Given the description of an element on the screen output the (x, y) to click on. 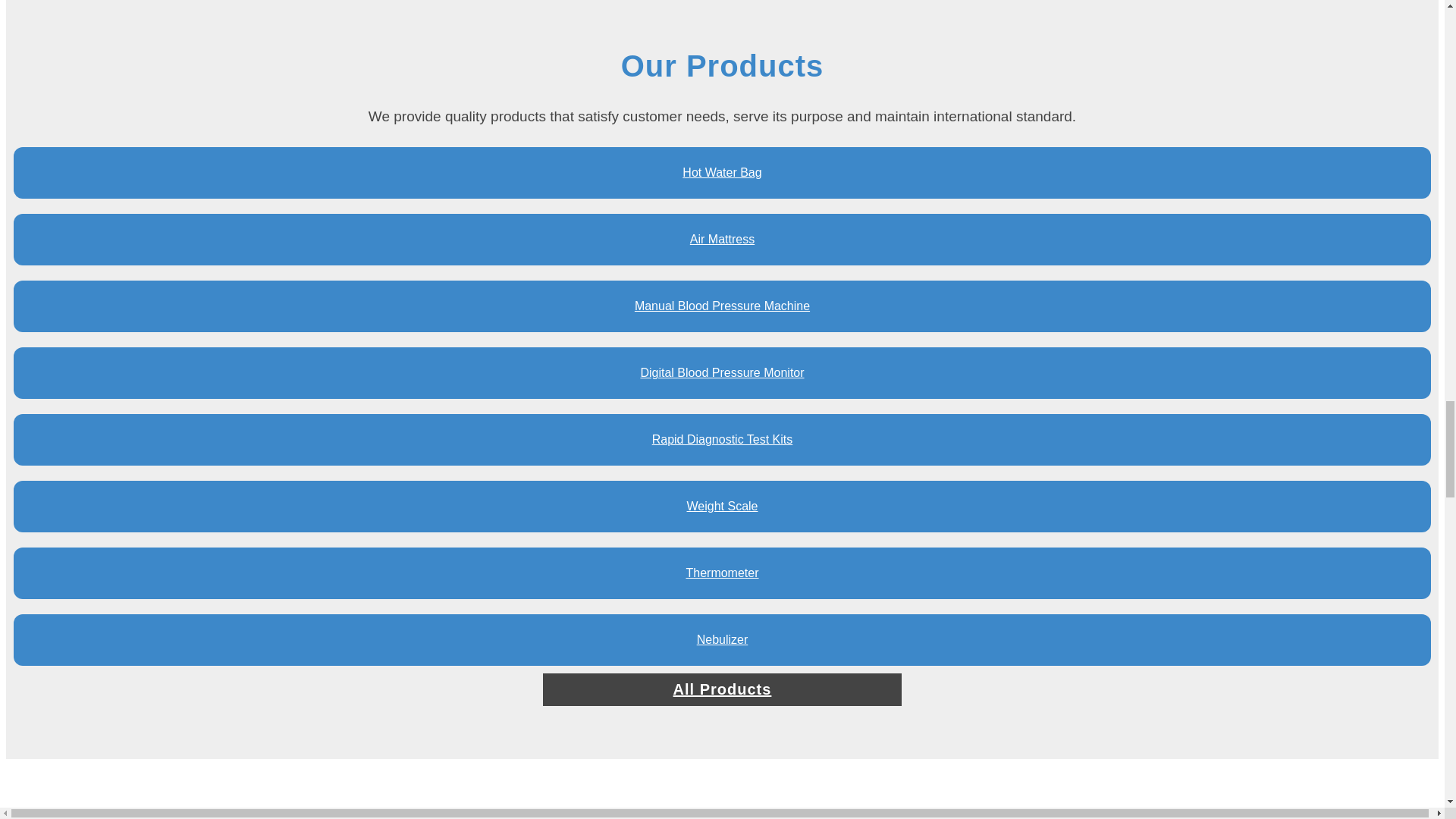
Digital Blood Pressure Monitor (722, 372)
Manual Blood Pressure Machine (722, 306)
Weight Scale (722, 506)
Air Mattress (722, 239)
Thermometer (722, 572)
Hot Water Bag (722, 173)
Rapid Diagnostic Test Kits (722, 440)
All Products (722, 689)
Nebulizer (722, 639)
